Given the description of an element on the screen output the (x, y) to click on. 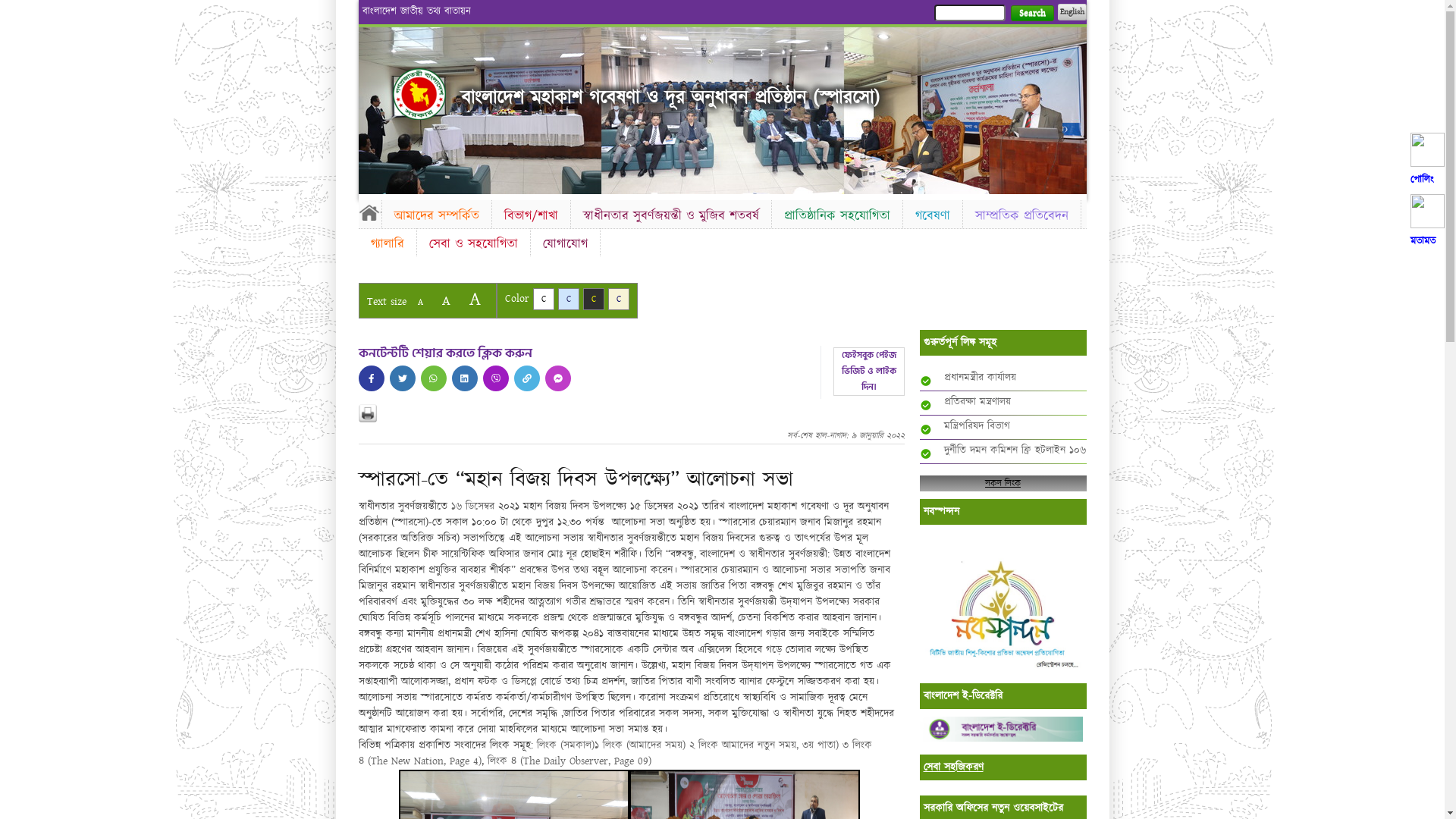
A Element type: text (474, 298)
English Element type: text (1071, 11)
A Element type: text (419, 301)
C Element type: text (592, 299)
Home Element type: hover (368, 211)
Search Element type: text (1031, 13)
C Element type: text (618, 299)
Home Element type: hover (418, 93)
C Element type: text (542, 299)
A Element type: text (445, 300)
C Element type: text (568, 299)
